Given the description of an element on the screen output the (x, y) to click on. 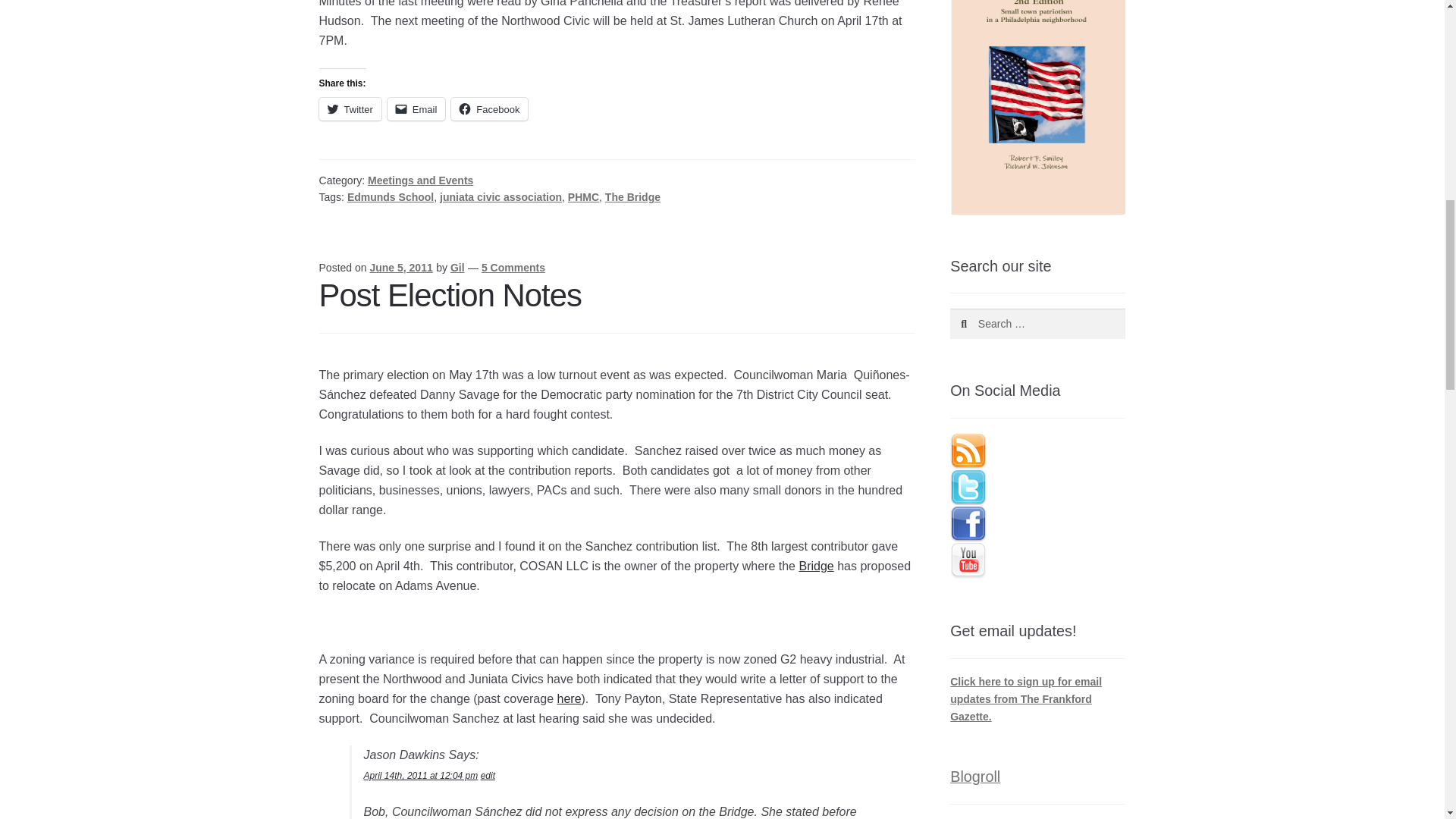
Twitter (349, 108)
Click to share on Facebook (489, 108)
Click to share on Twitter (349, 108)
Click to email a link to a friend (416, 108)
Edit comment (487, 775)
